Given the description of an element on the screen output the (x, y) to click on. 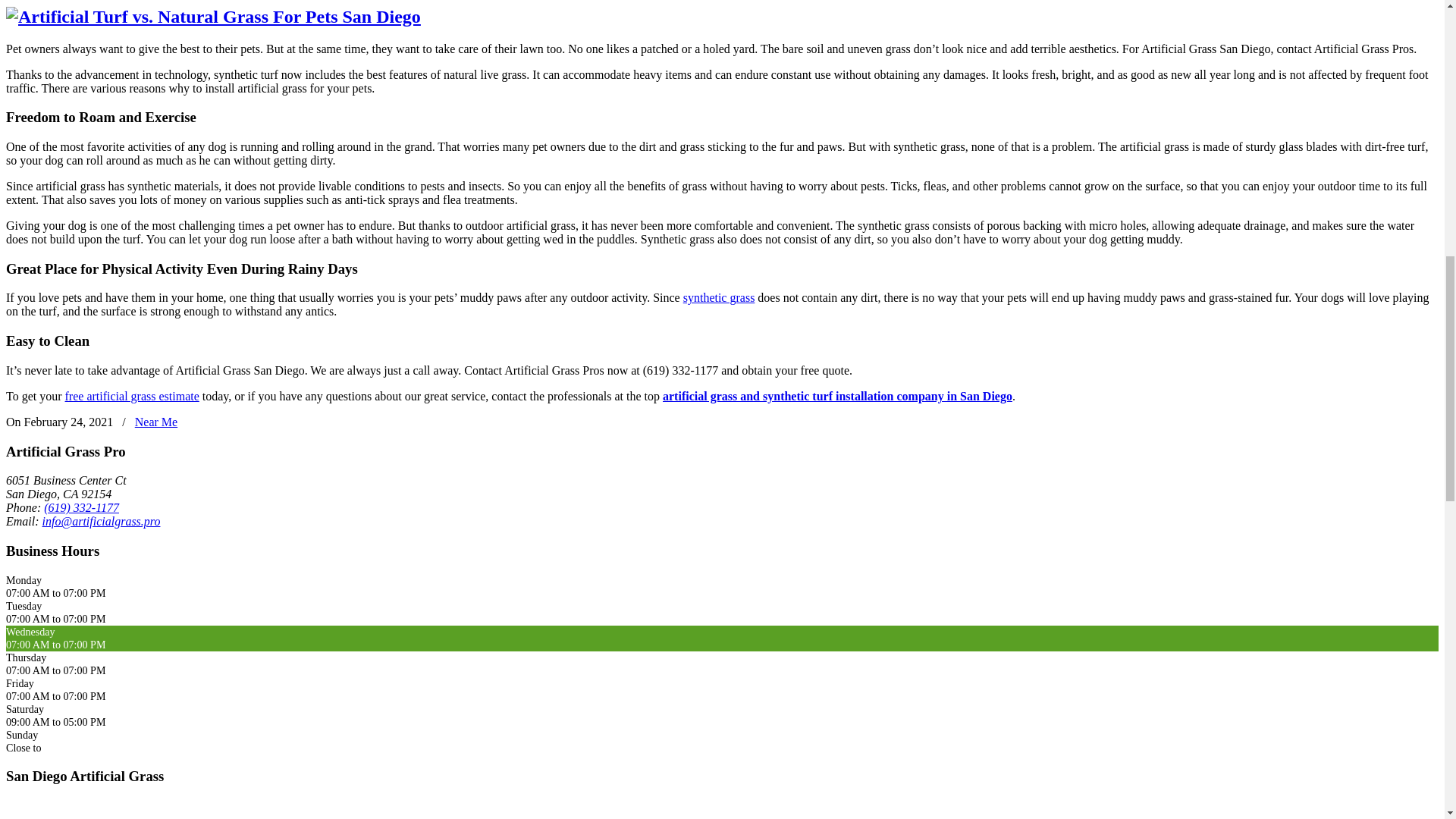
synthetic grass (718, 297)
Near Me (156, 421)
free artificial grass estimate (132, 395)
Phone (81, 507)
